Given the description of an element on the screen output the (x, y) to click on. 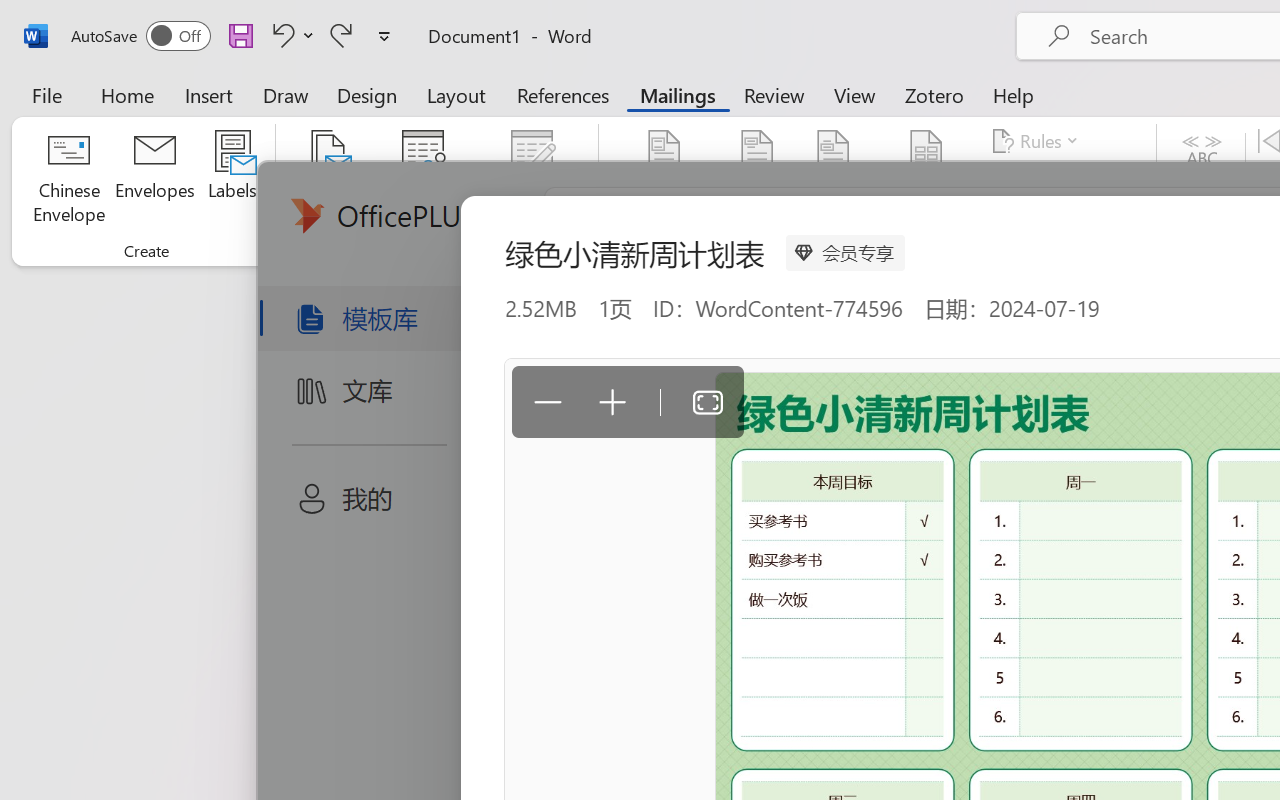
Update Labels (1064, 218)
Edit Recipient List... (532, 179)
Insert Merge Field (927, 179)
Address Block... (757, 179)
Greeting Line... (833, 179)
Highlight Merge Fields (664, 179)
